Given the description of an element on the screen output the (x, y) to click on. 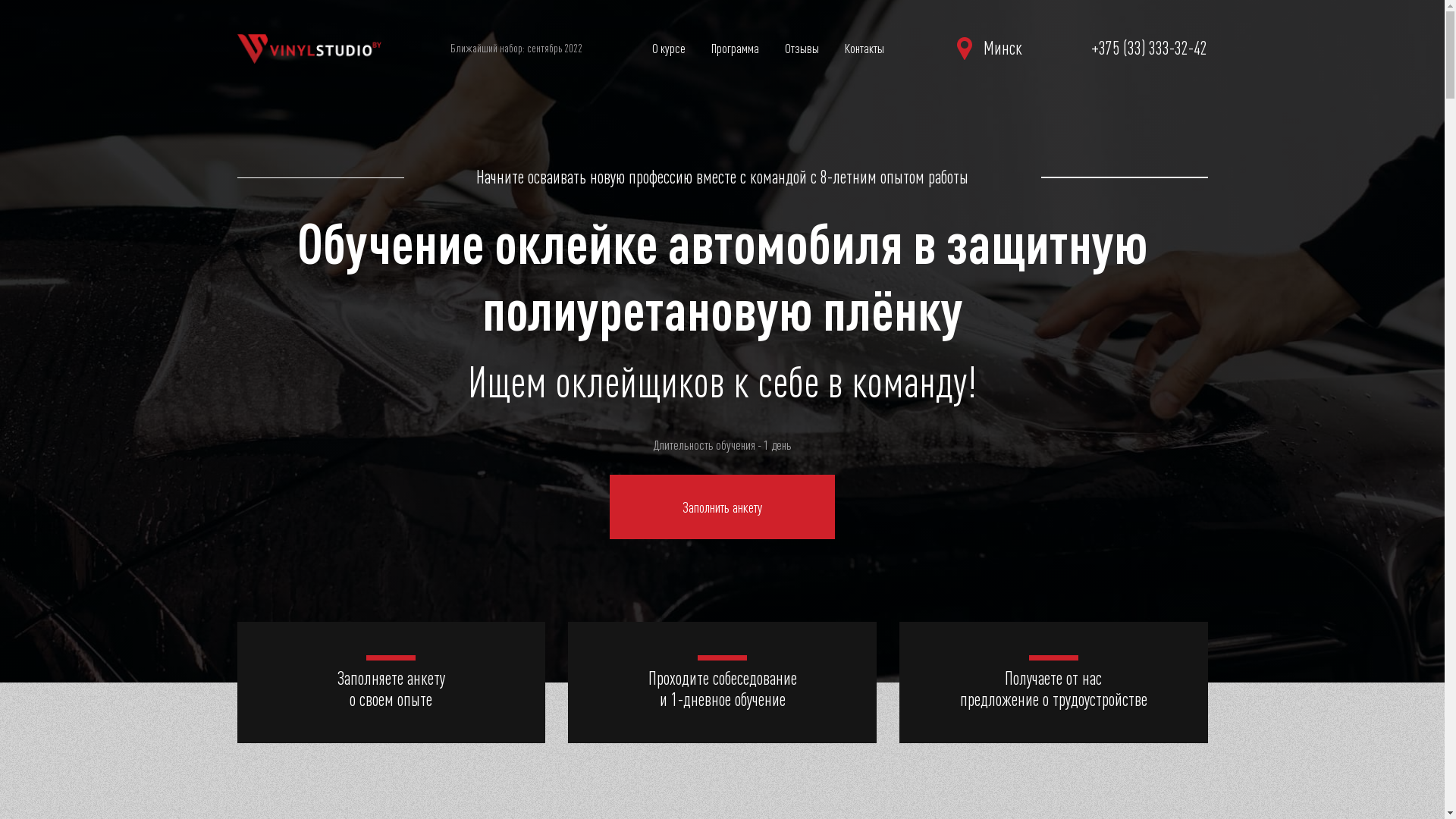
+375 (33) 333-32-42 Element type: text (1149, 48)
